Given the description of an element on the screen output the (x, y) to click on. 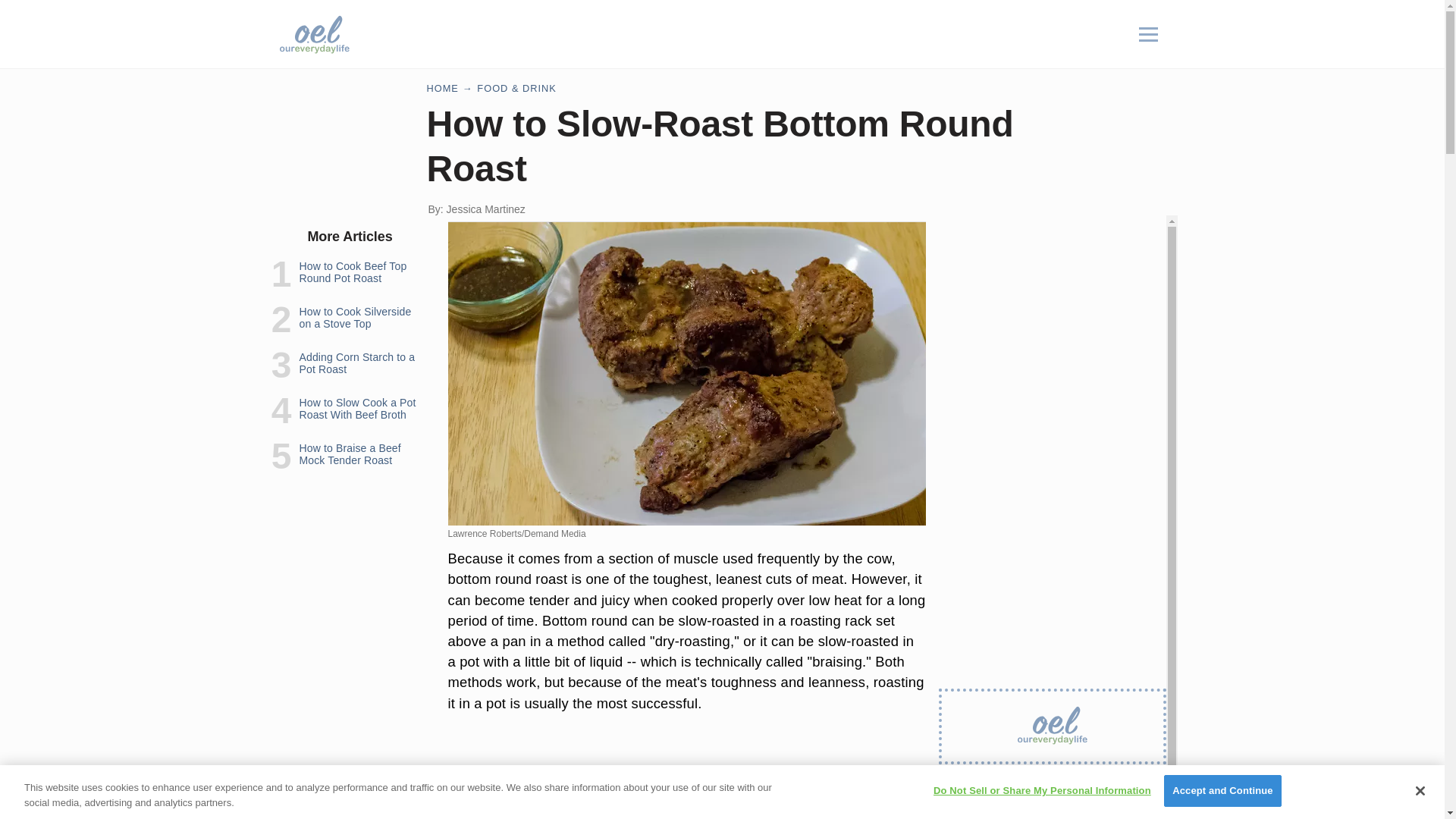
3rd party ad content (1052, 800)
3rd party ad content (686, 778)
How to Cook Silverside on a Stove Top (354, 317)
How to Braise a Beef Mock Tender Roast (349, 454)
Adding Corn Starch to a Pot Roast (356, 363)
3rd party ad content (1052, 309)
How to Slow Cook a Pot Roast With Beef Broth (356, 408)
How to Cook Beef Top Round Pot Roast (352, 272)
3rd party ad content (741, 33)
HOME (442, 88)
